Given the description of an element on the screen output the (x, y) to click on. 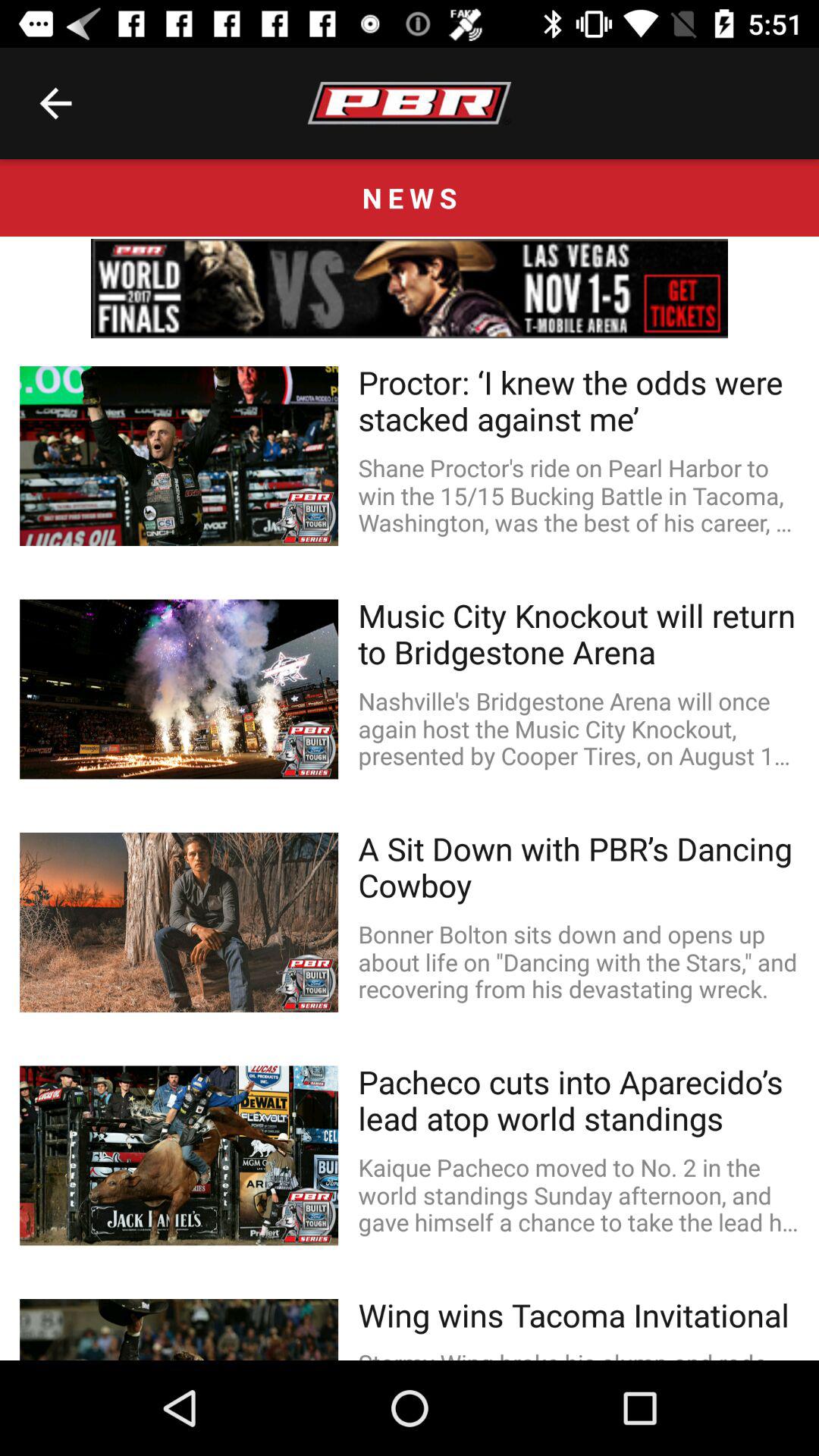
pop-up advertisement (409, 288)
